Given the description of an element on the screen output the (x, y) to click on. 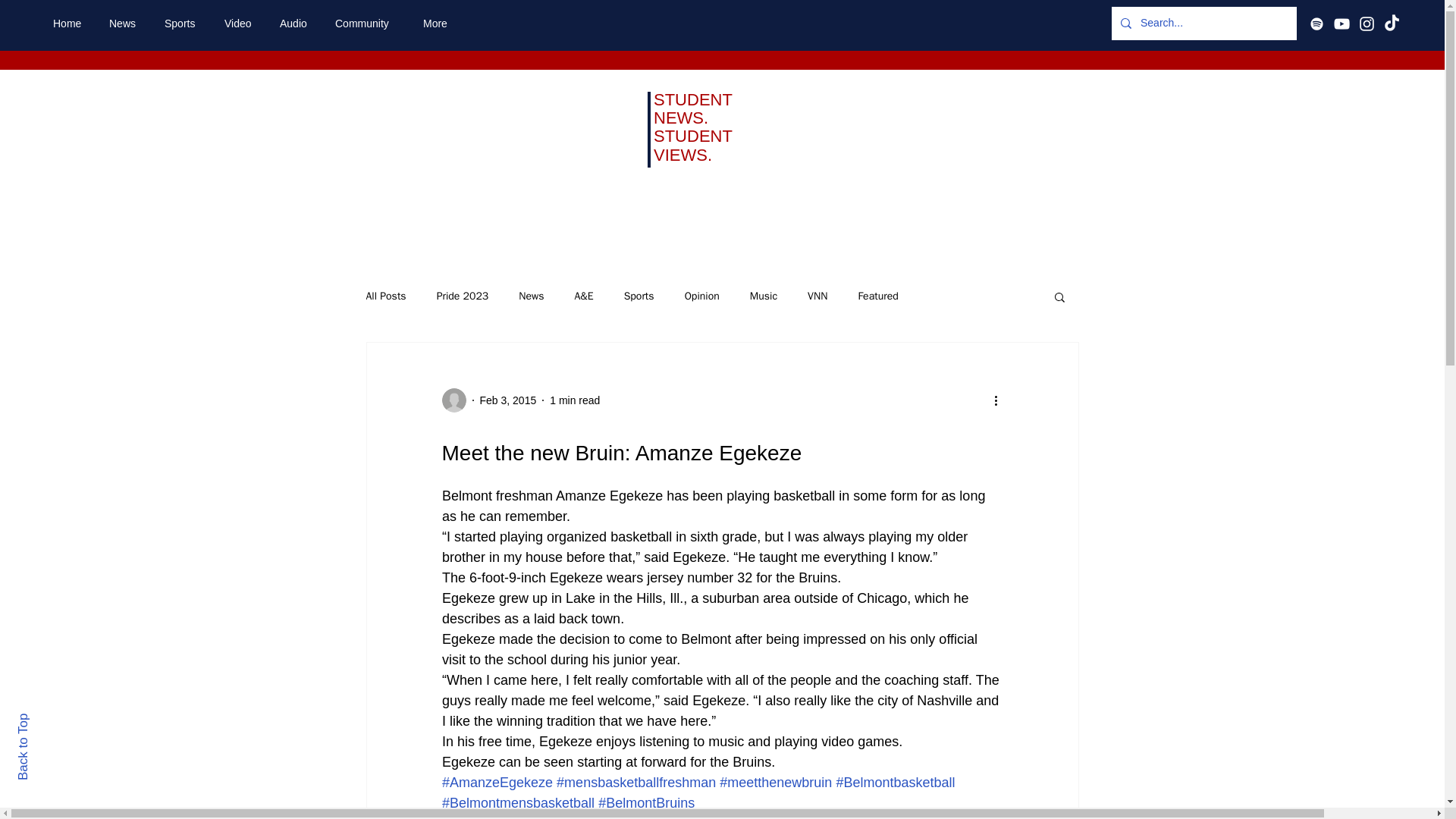
News (530, 296)
Opinion (701, 296)
Sports (182, 23)
Music (763, 296)
All Posts (385, 296)
Video (239, 23)
Feb 3, 2015 (507, 399)
Community (367, 23)
Featured (877, 296)
1 min read (574, 399)
